Given the description of an element on the screen output the (x, y) to click on. 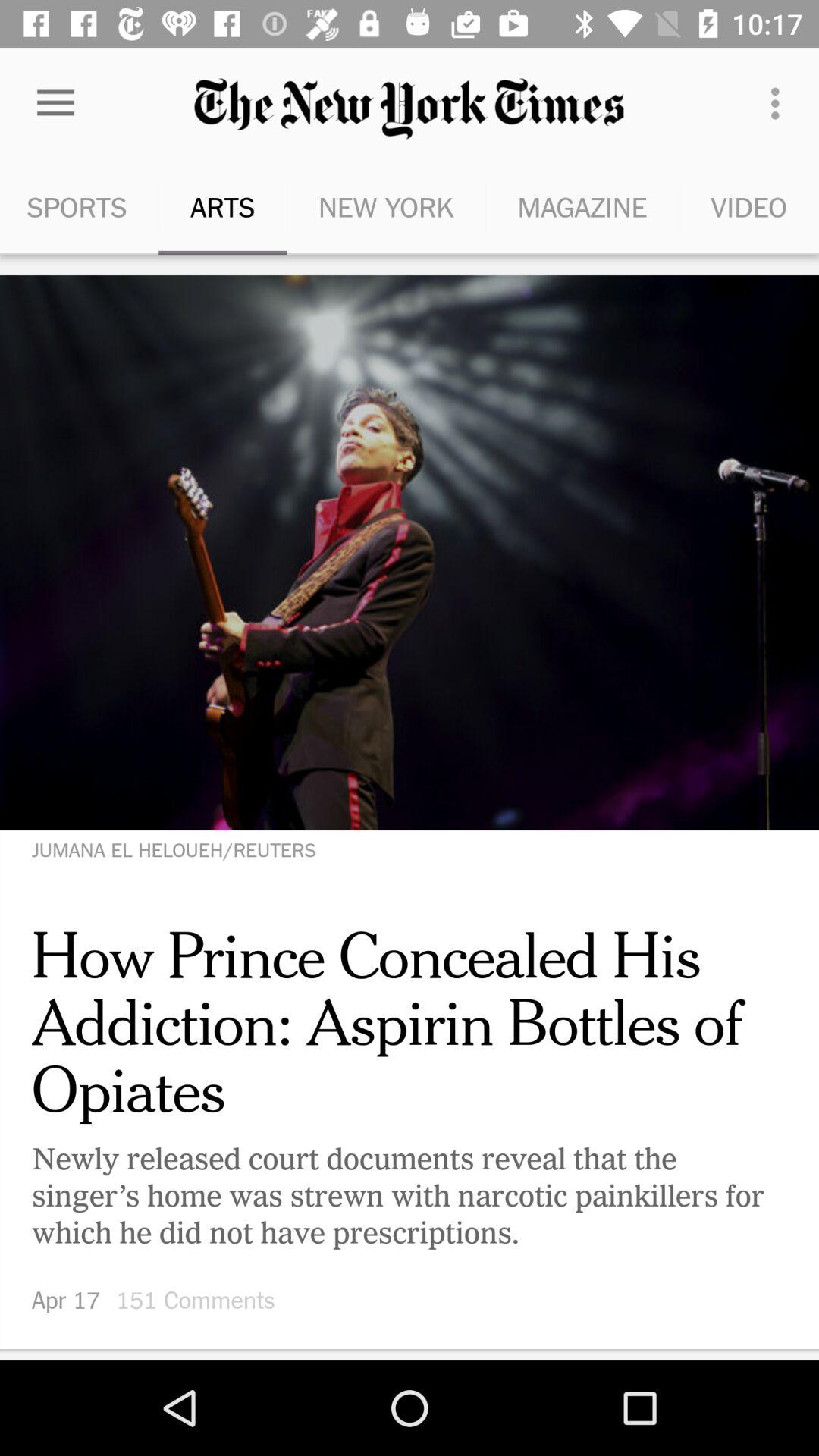
select icon next to arts item (55, 103)
